Given the description of an element on the screen output the (x, y) to click on. 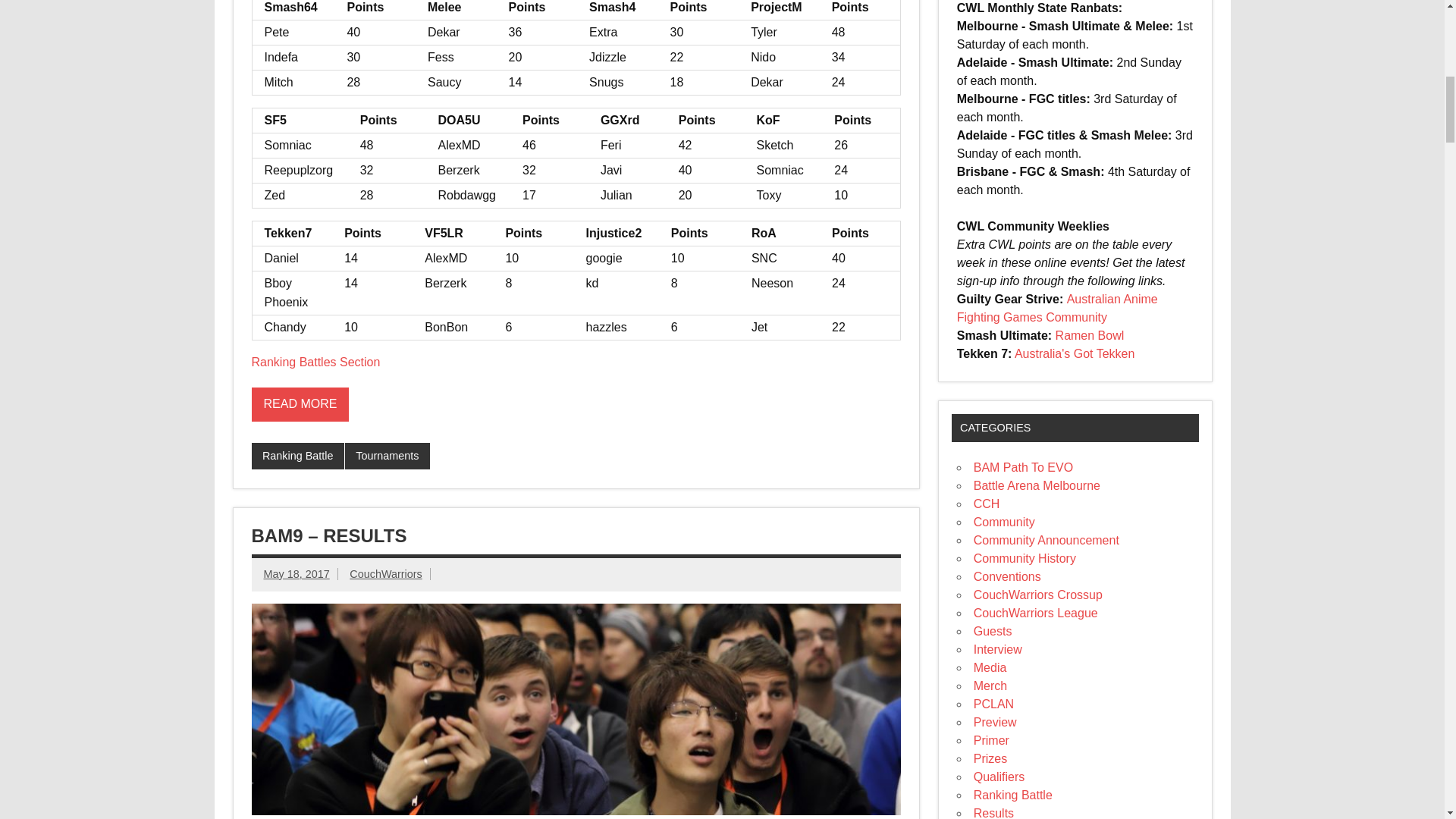
CouchWarriors (385, 573)
3:19 pm (296, 573)
View all posts by CouchWarriors (385, 573)
Tournaments (387, 456)
Ranking Battle (297, 456)
Ranking Battles Section (315, 361)
READ MORE (300, 404)
May 18, 2017 (296, 573)
